Given the description of an element on the screen output the (x, y) to click on. 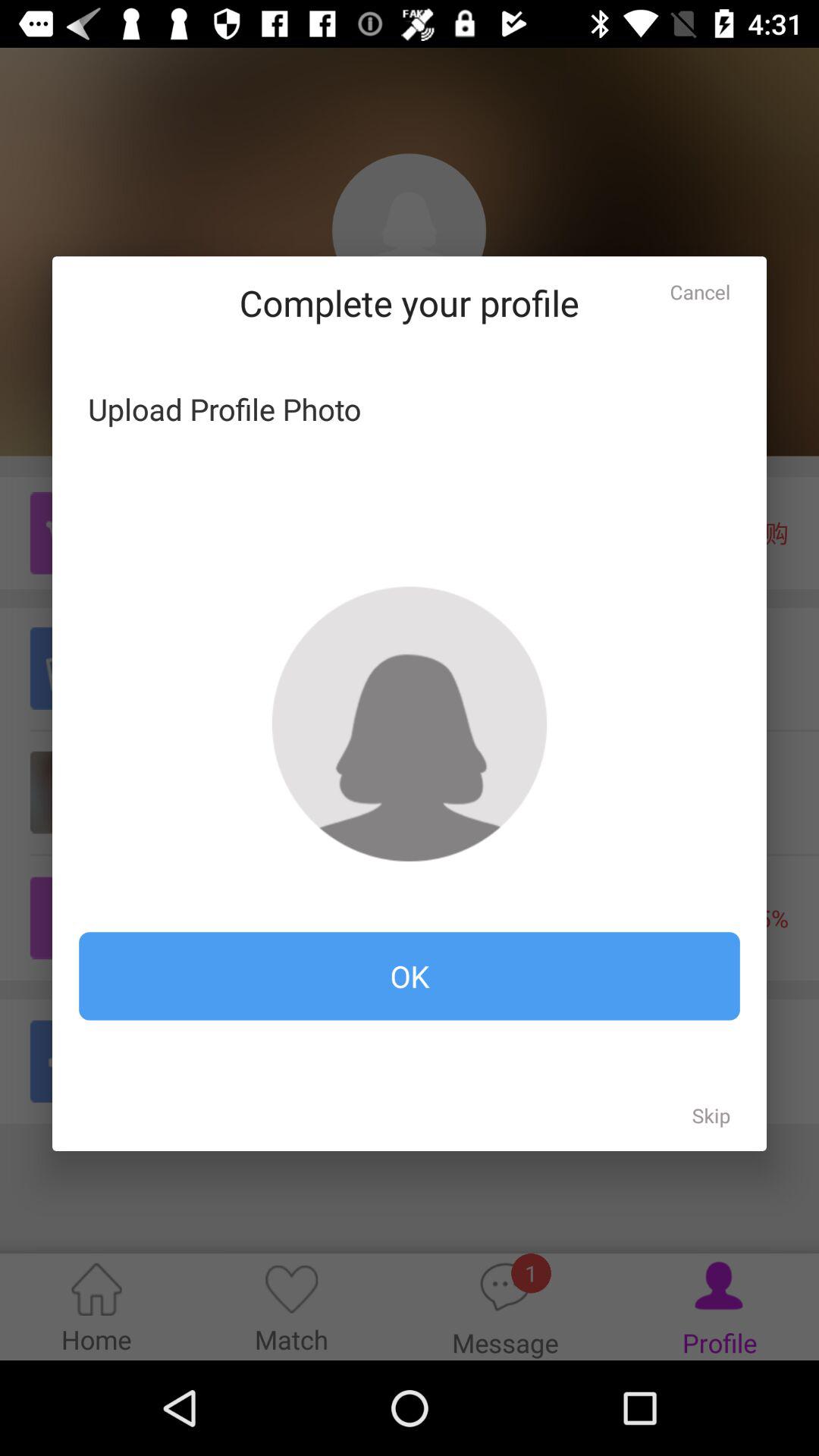
turn off skip icon (711, 1115)
